Given the description of an element on the screen output the (x, y) to click on. 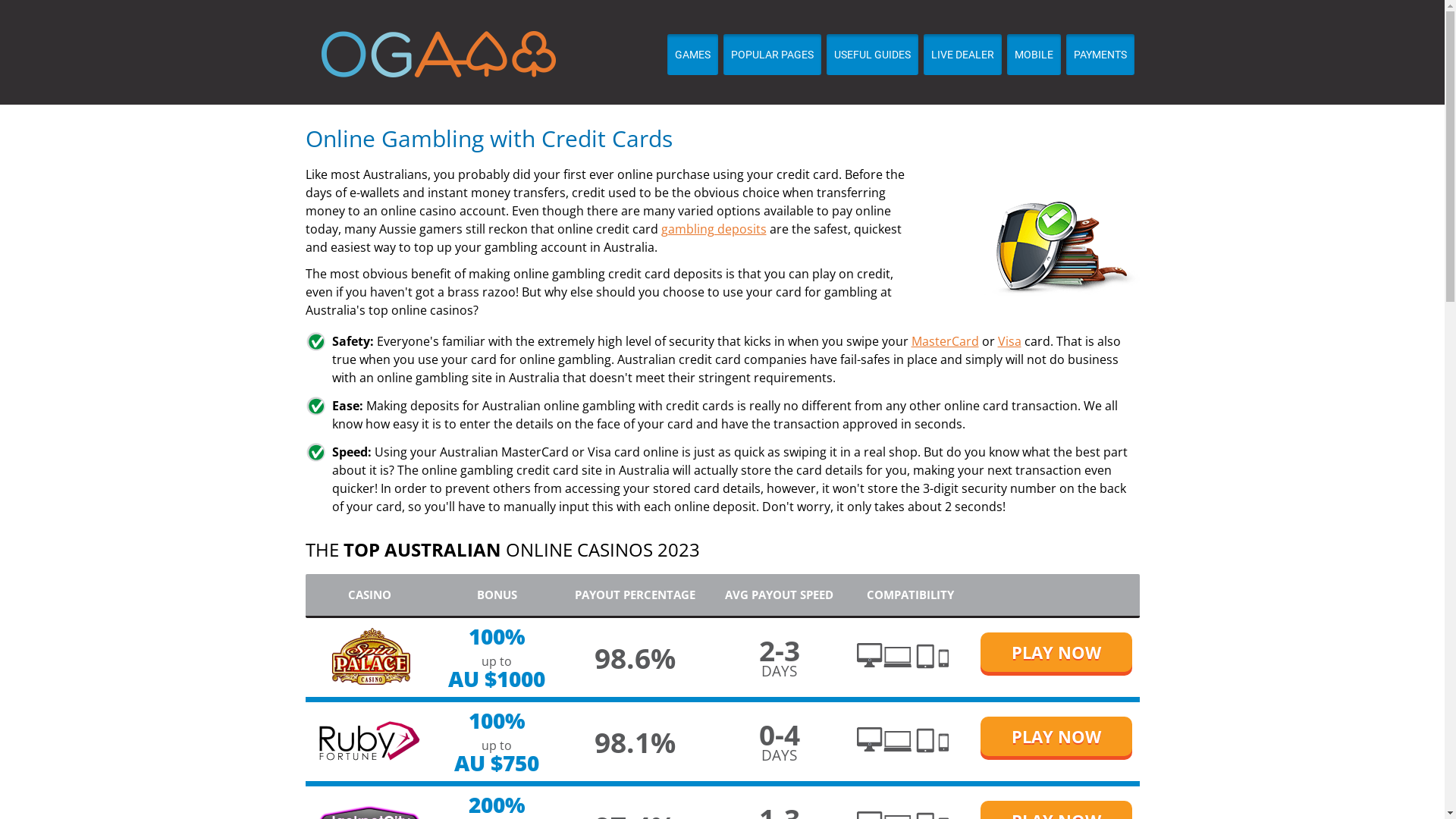
LIVE DEALER Element type: text (962, 54)
MasterCard Element type: text (945, 340)
PLAY NOW Element type: text (1055, 651)
USEFUL GUIDES Element type: text (872, 54)
MOBILE Element type: text (1033, 54)
Visa Element type: text (1009, 340)
POPULAR PAGES Element type: text (772, 54)
GAMES Element type: text (692, 54)
PAYMENTS Element type: text (1100, 54)
PLAY NOW Element type: text (1055, 736)
gambling deposits Element type: text (713, 228)
